Given the description of an element on the screen output the (x, y) to click on. 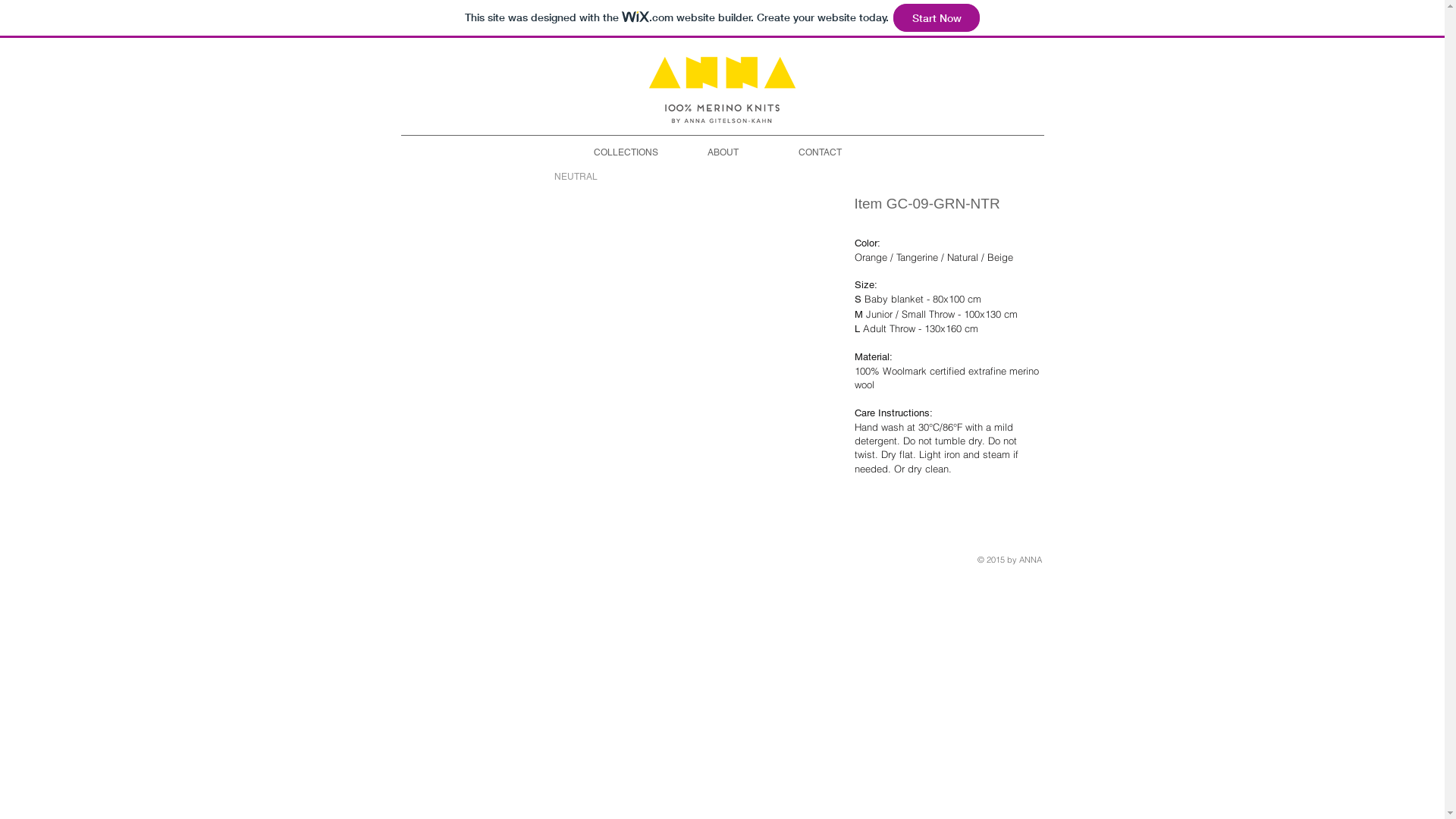
NEUTRAL Element type: text (575, 175)
CONTACT Element type: text (818, 152)
ANNA Element type: hover (722, 89)
ABOUT Element type: text (721, 152)
